Given the description of an element on the screen output the (x, y) to click on. 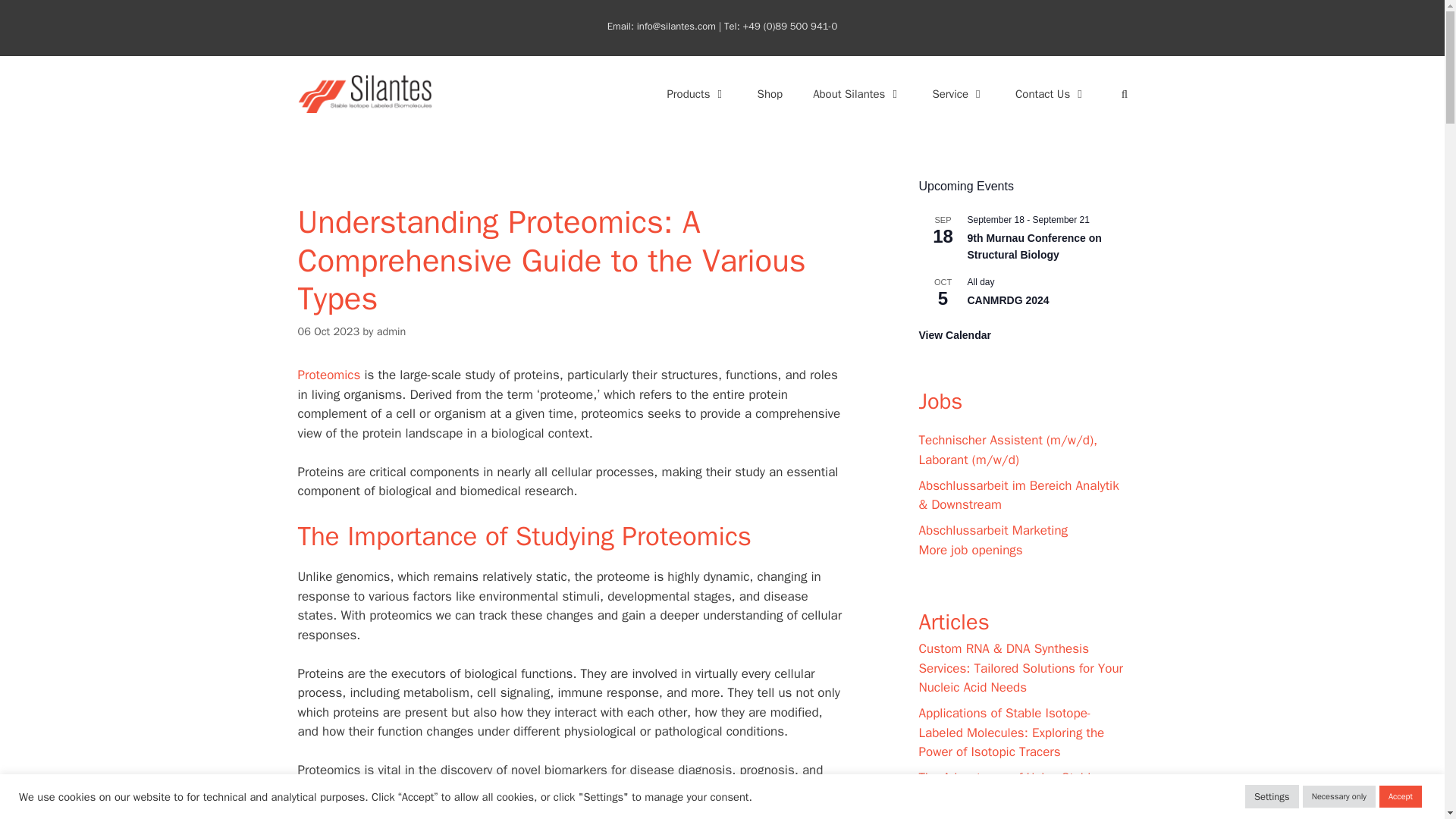
CANMRDG 2024 (1008, 300)
Shop (769, 94)
Proteomics (328, 374)
View Calendar (954, 335)
View all posts by admin (391, 331)
9th Murnau Conference on Structural Biology (1035, 246)
Jobs (940, 401)
Contact Us (1051, 94)
View more events. (954, 335)
CANMRDG 2024 (1008, 300)
